Given the description of an element on the screen output the (x, y) to click on. 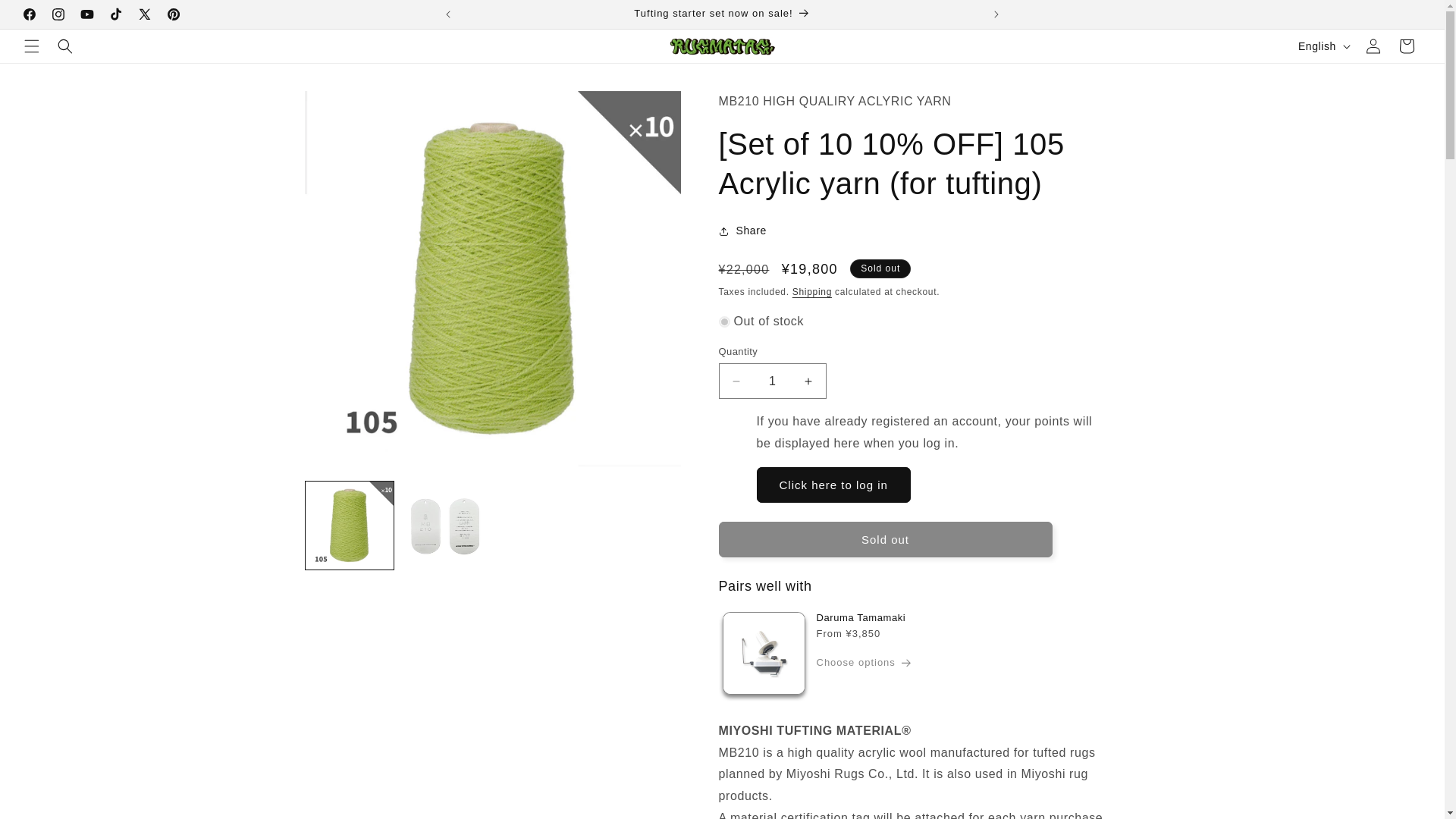
Pinterest (172, 14)
TikTok (116, 14)
1 (773, 380)
Skip to content (45, 17)
Facebook (28, 14)
Tufting starter set now on sale! (721, 14)
YouTube (86, 14)
Instagram (57, 14)
